Given the description of an element on the screen output the (x, y) to click on. 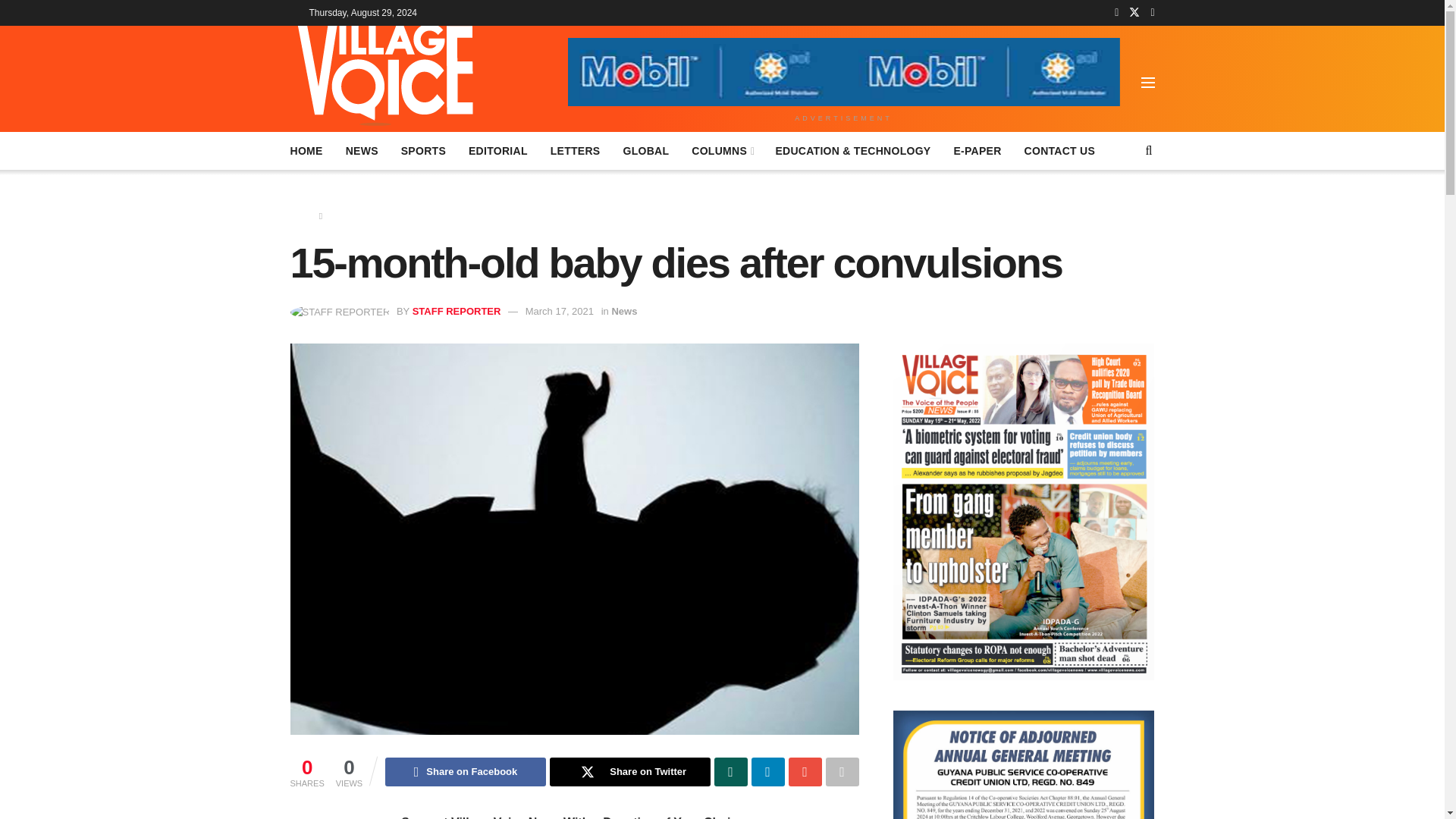
NEWS (362, 150)
COLUMNS (721, 150)
SPORTS (423, 150)
GLOBAL (645, 150)
EDITORIAL (497, 150)
CONTACT US (1060, 150)
HOME (305, 150)
LETTERS (574, 150)
E-PAPER (977, 150)
